Given the description of an element on the screen output the (x, y) to click on. 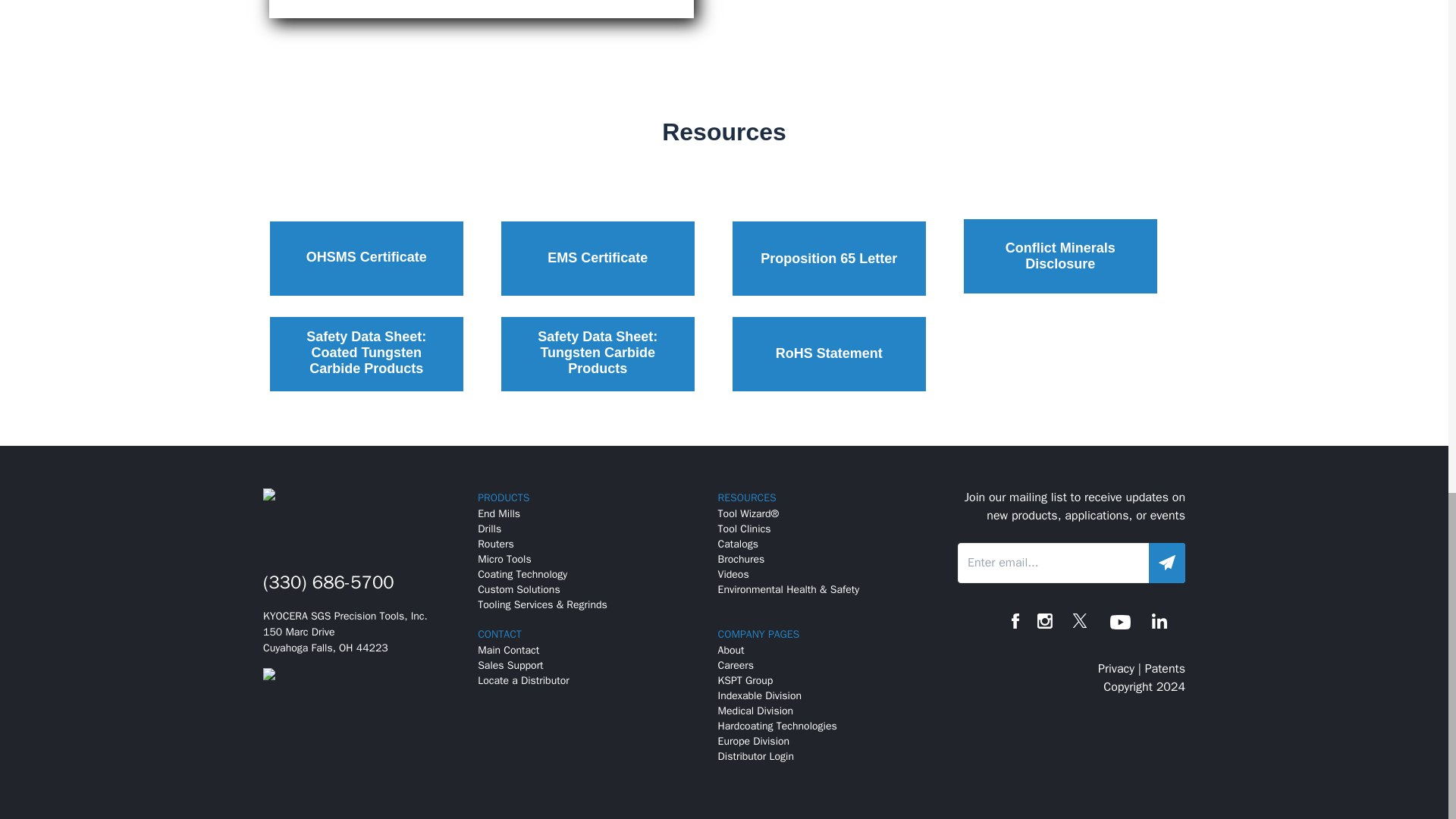
Safety Data Sheet: Coated Tungsten Carbide Products (366, 354)
Videos (733, 574)
Careers (735, 665)
Sales Support (510, 665)
End Mills (498, 513)
Conflict Minerals Disclosure (1059, 256)
RoHS Statement (829, 354)
Brochures (741, 558)
Micro Tools (504, 558)
Routers (495, 543)
OHSMS Certificate (366, 258)
KSPT Group (745, 680)
About (730, 649)
Custom Solutions (518, 589)
Coating Technology (522, 574)
